Given the description of an element on the screen output the (x, y) to click on. 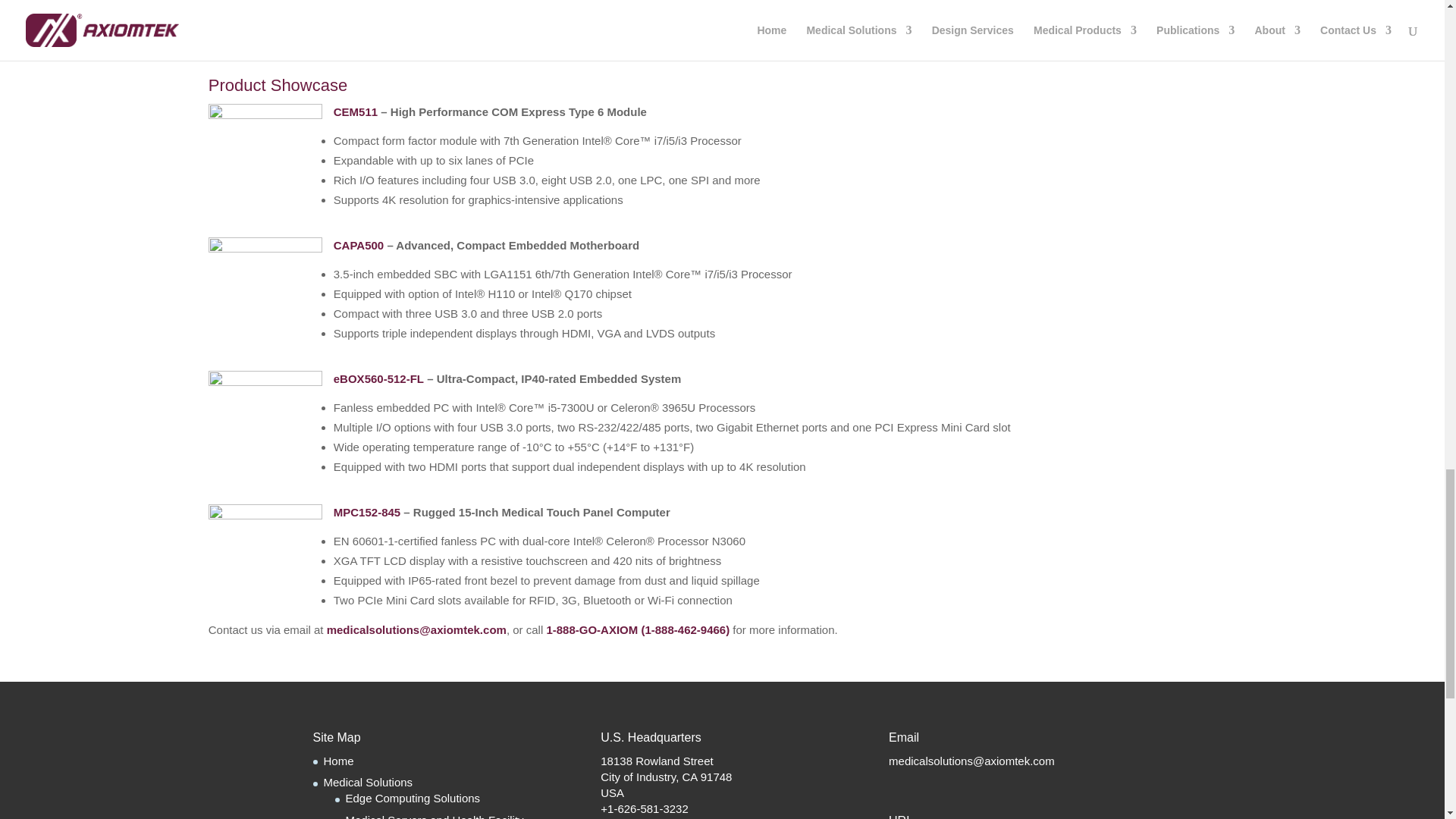
eBOX560-512-FL (440, 386)
Learn more. (974, 31)
Home (338, 760)
CEM511 (355, 111)
Medical Servers and Health Facility Kiosks (435, 816)
Edge Computing Solutions (413, 797)
CAPA500 (420, 253)
Medical Solutions (367, 781)
MPC152-845 (429, 520)
